Given the description of an element on the screen output the (x, y) to click on. 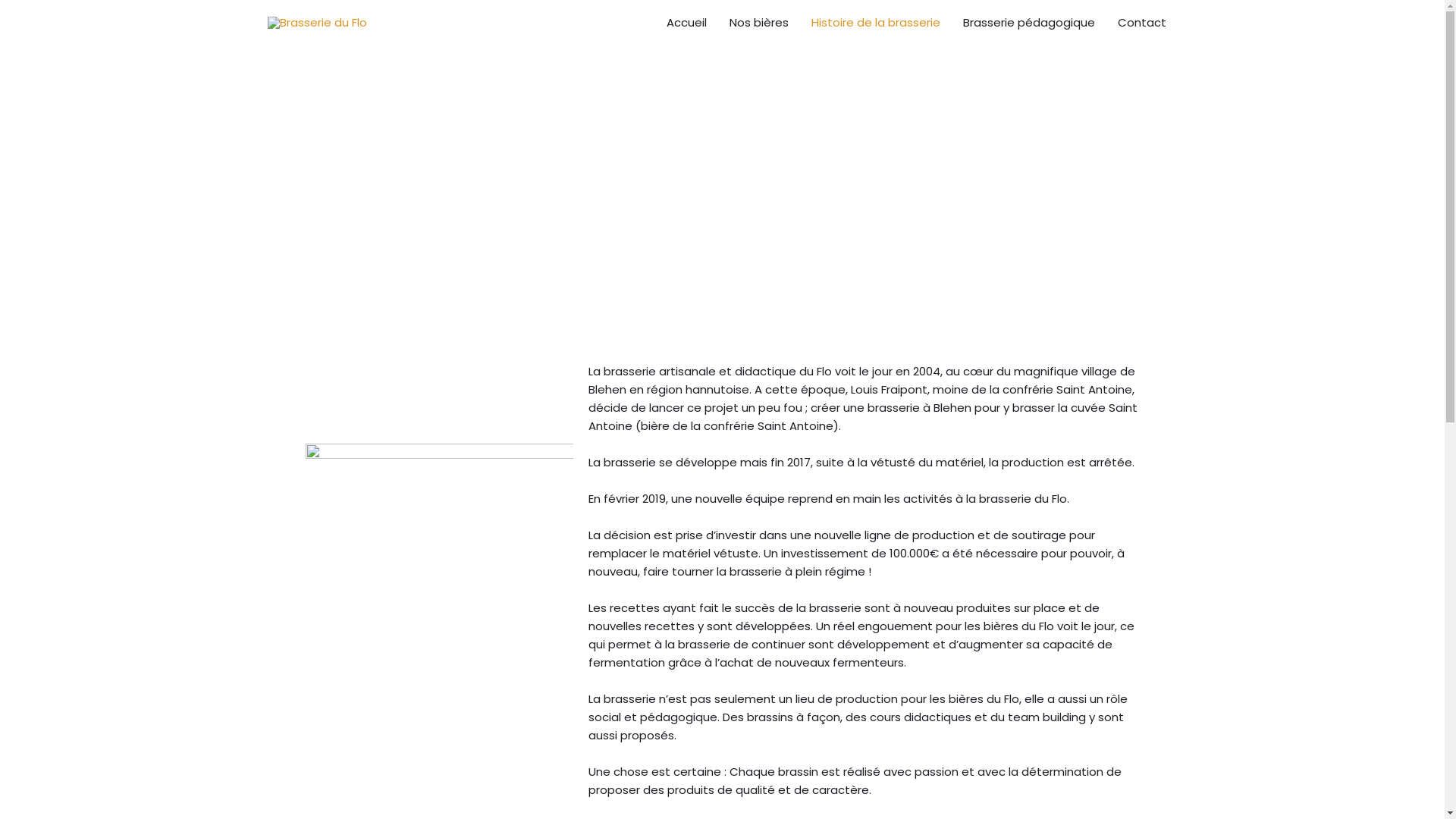
Histoire de la brasserie Element type: text (874, 22)
Accueil Element type: text (686, 22)
Contact Element type: text (1140, 22)
